Given the description of an element on the screen output the (x, y) to click on. 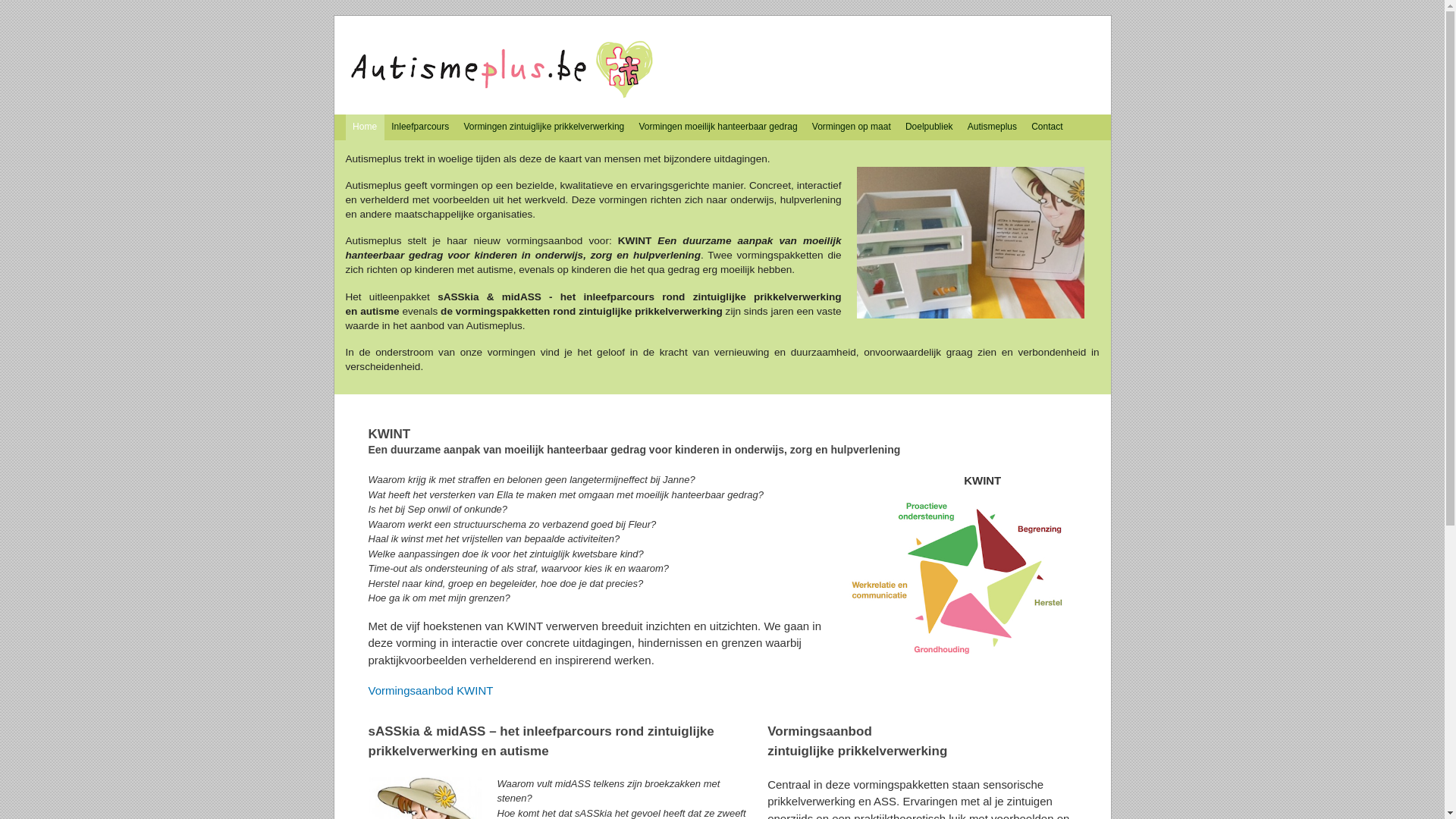
Contact Element type: text (1047, 127)
Inleefparcours Element type: text (420, 127)
Vormingen zintuiglijke prikkelverwerking Element type: text (543, 127)
Home Element type: text (364, 127)
Autismeplus Element type: text (991, 127)
Vormingen moeilijk hanteerbaar gedrag Element type: text (717, 127)
Doelpubliek Element type: text (928, 127)
Vormingen op maat Element type: text (850, 127)
Vormingsaanbod KWINT Element type: text (430, 690)
Home Element type: hover (503, 70)
